Given the description of an element on the screen output the (x, y) to click on. 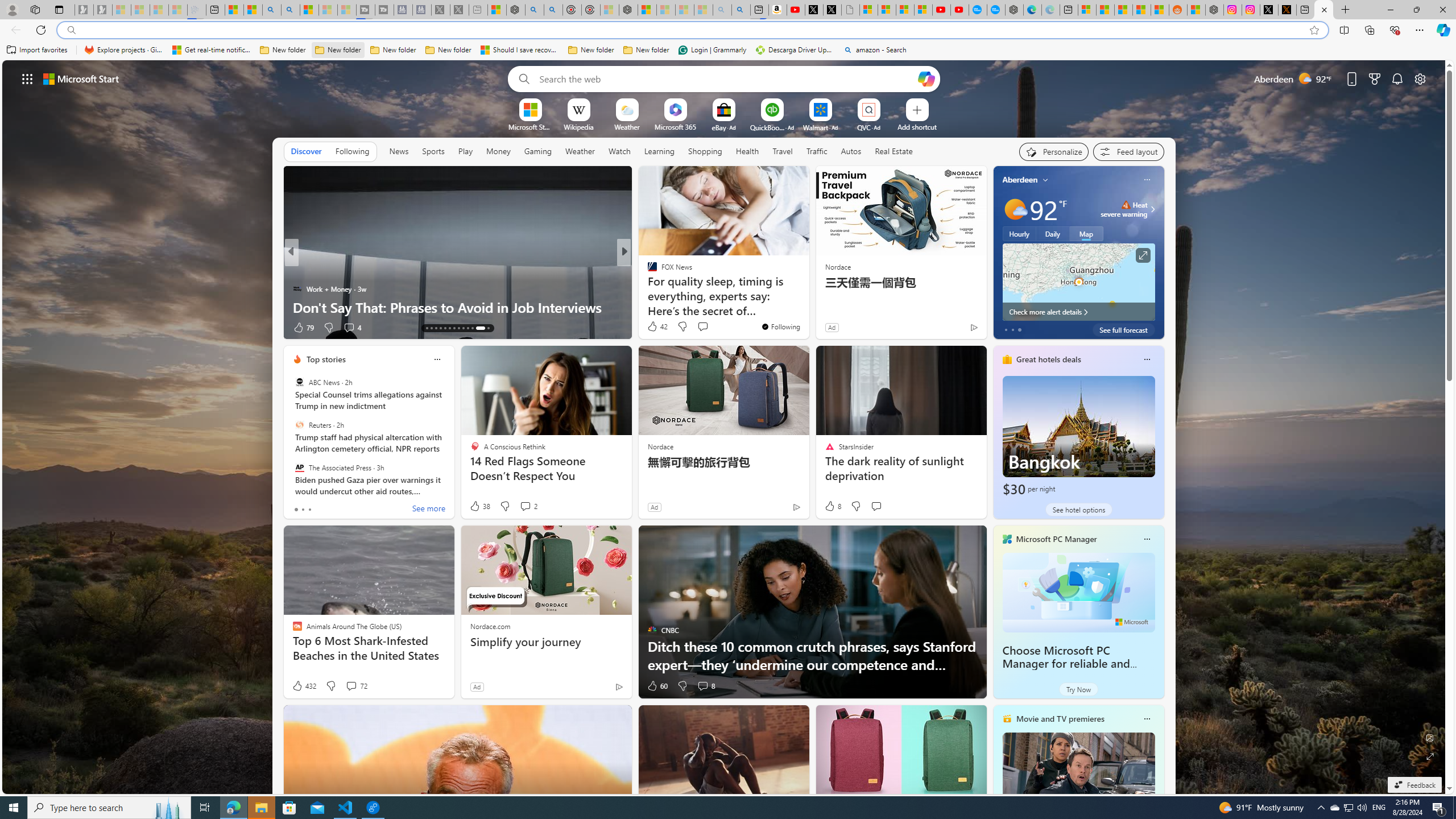
Work + Money (296, 288)
View comments 1 Comment (6, 327)
42 Like (657, 326)
View comments 4 Comment (349, 327)
poe - Search (533, 9)
Check more alert details (1077, 311)
Login | Grammarly (712, 49)
Enter your search term (726, 78)
